Given the description of an element on the screen output the (x, y) to click on. 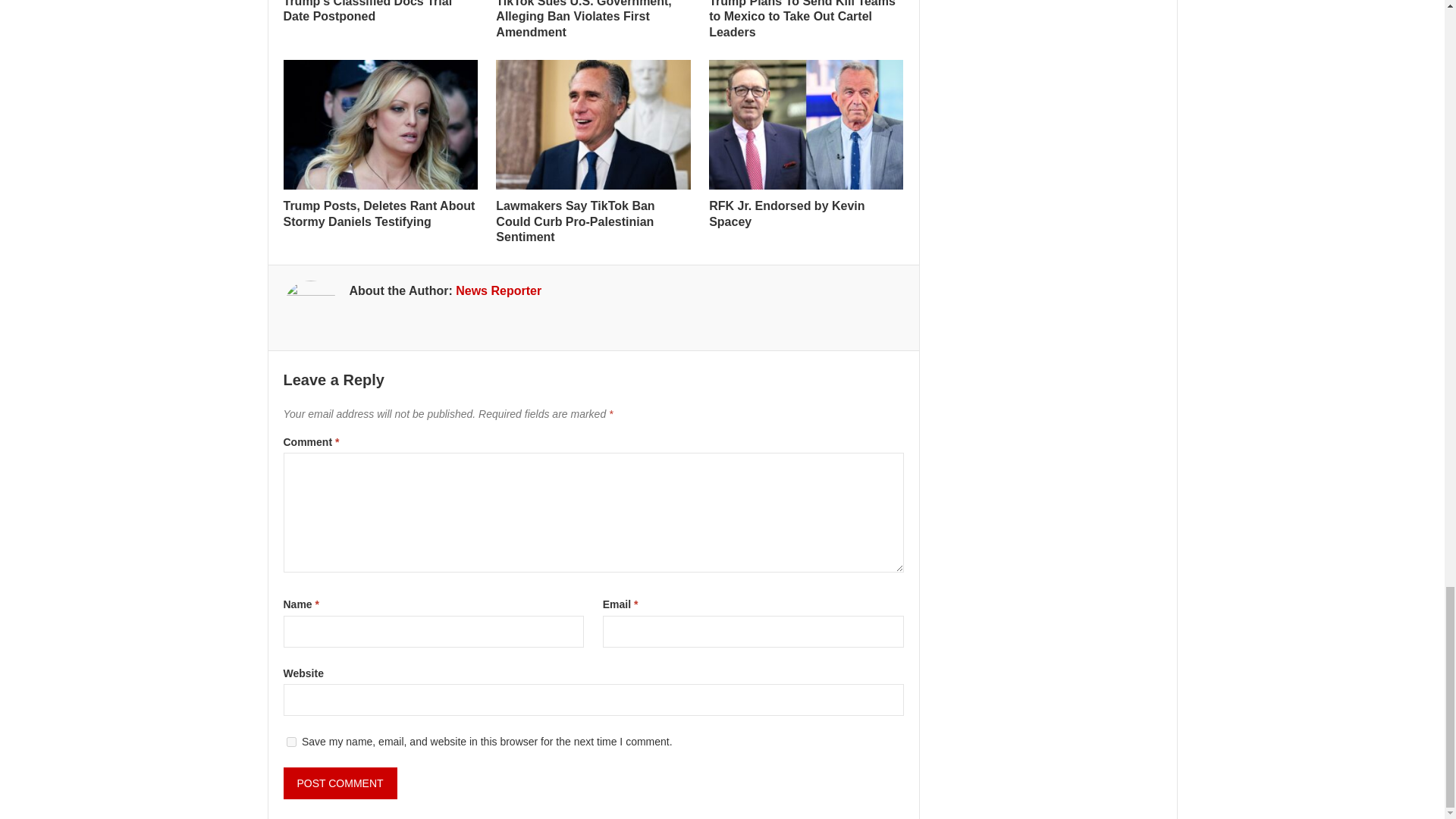
Post Comment (340, 783)
yes (291, 741)
